Given the description of an element on the screen output the (x, y) to click on. 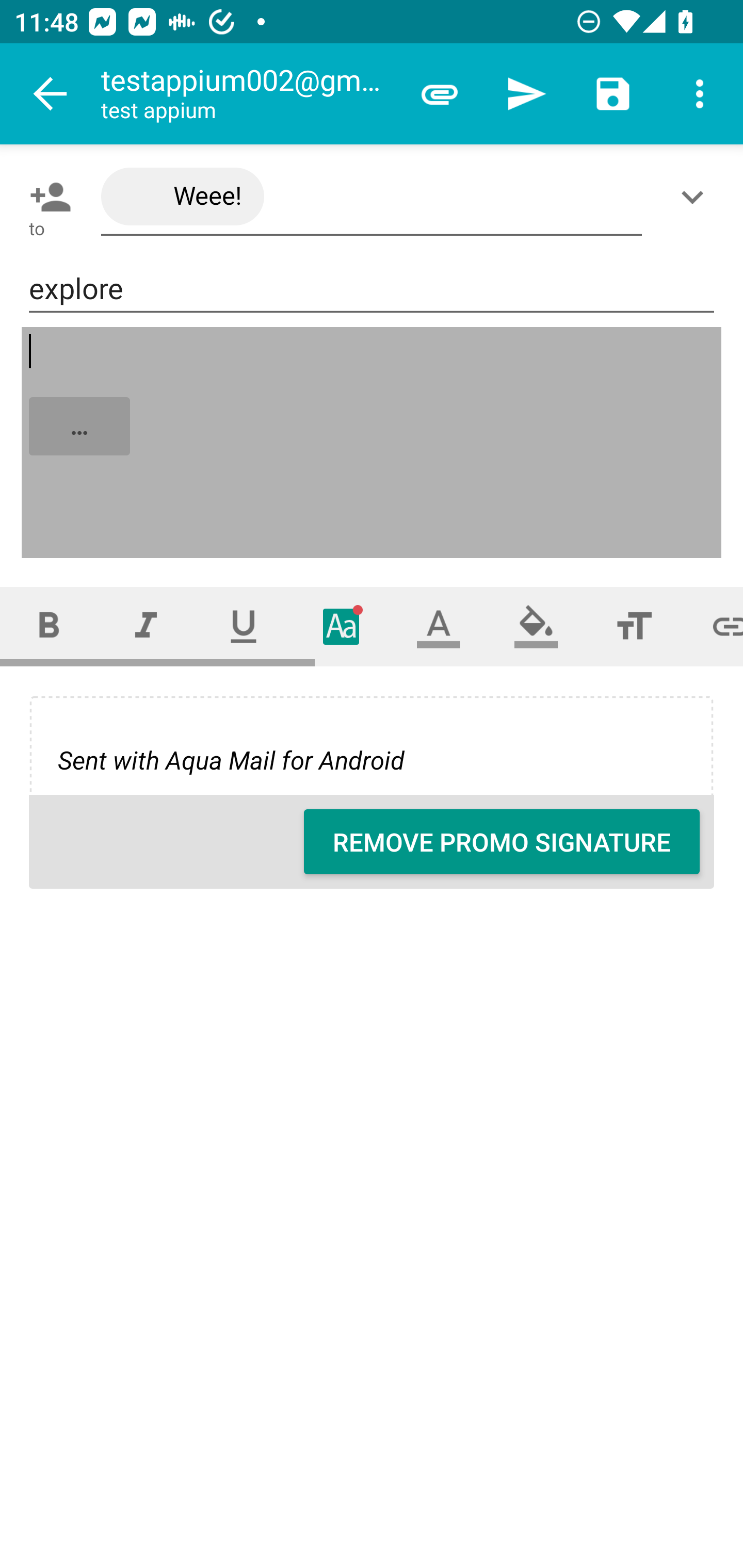
Navigate up (50, 93)
testappium002@gmail.com test appium (248, 93)
Attach (439, 93)
Send (525, 93)
Save (612, 93)
More options (699, 93)
Weee! <hello@mktg.sayweee.com>,  (371, 197)
Pick contact: To (46, 196)
Show/Add CC/BCC (696, 196)
explore (371, 288)

…
 (372, 442)
Bold (48, 626)
Italic (145, 626)
Underline (243, 626)
Typeface (font) (341, 626)
Text color (438, 626)
Fill color (536, 626)
Font size (633, 626)
REMOVE PROMO SIGNATURE (501, 841)
